Given the description of an element on the screen output the (x, y) to click on. 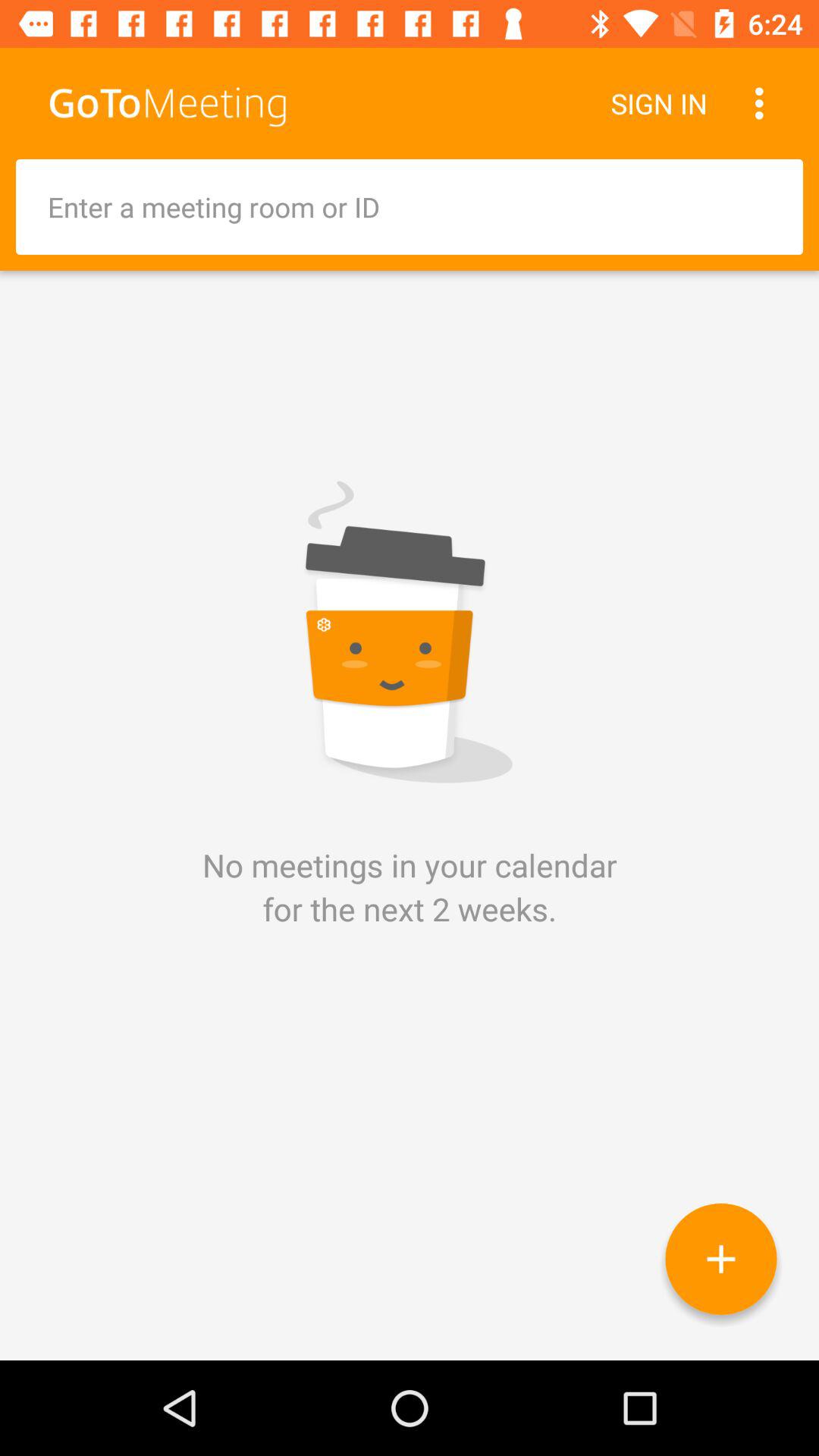
flip to the sign in (658, 103)
